Given the description of an element on the screen output the (x, y) to click on. 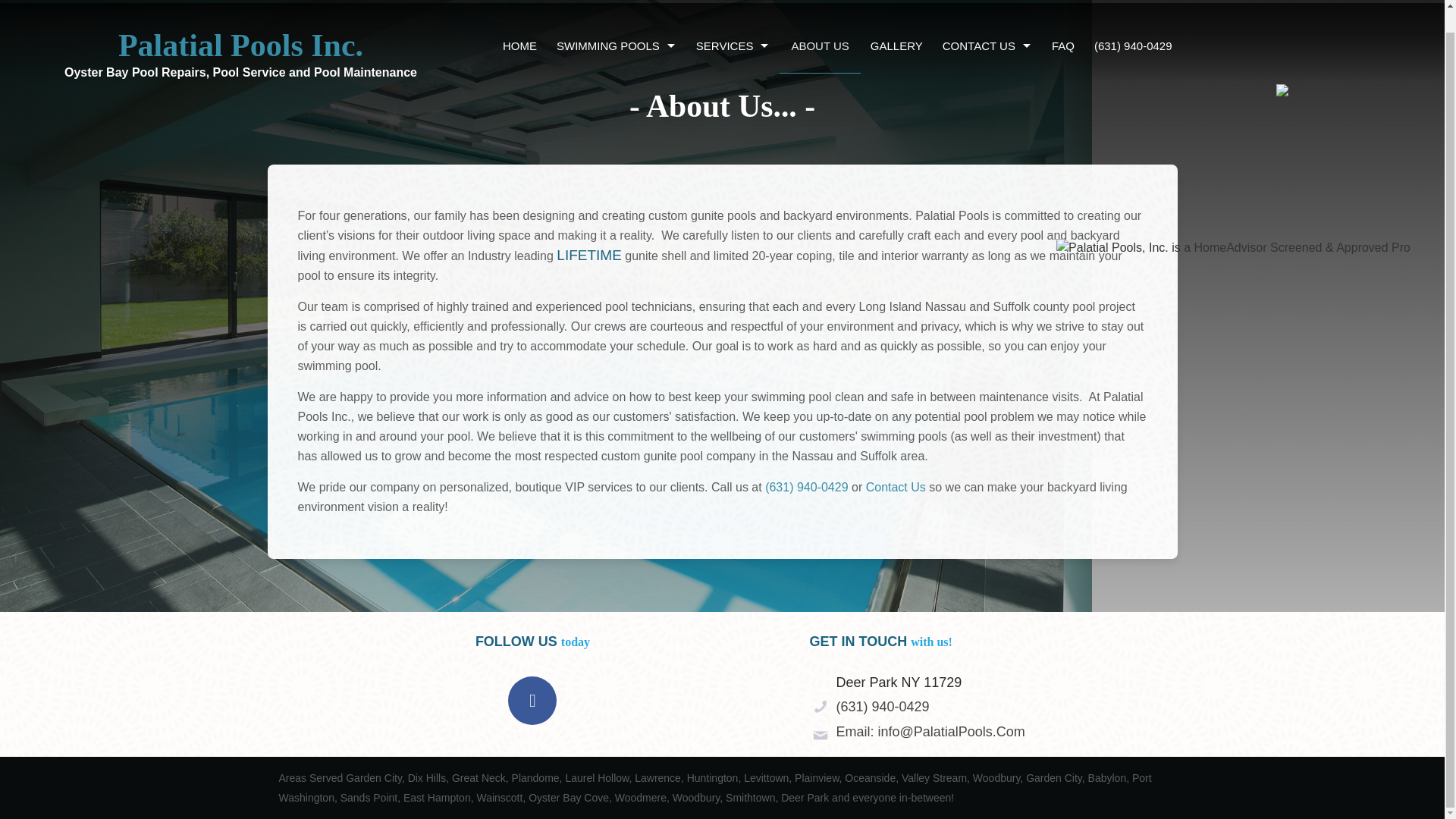
CONTACT US (987, 24)
Pool And Equipment Repair (732, 107)
Automatic Pool Covers (616, 146)
SERVICES (732, 24)
SWIMMING POOLS (616, 24)
Our Facebook Page (531, 702)
Palatial Pools Inc. (240, 20)
Swimming Pool Construction Process (616, 185)
Contact Us (896, 486)
GALLERY (896, 24)
HOME (520, 24)
Closing (732, 185)
Custom Gunite Pools (616, 68)
Opening (732, 146)
Pool Maintenance (732, 68)
